Given the description of an element on the screen output the (x, y) to click on. 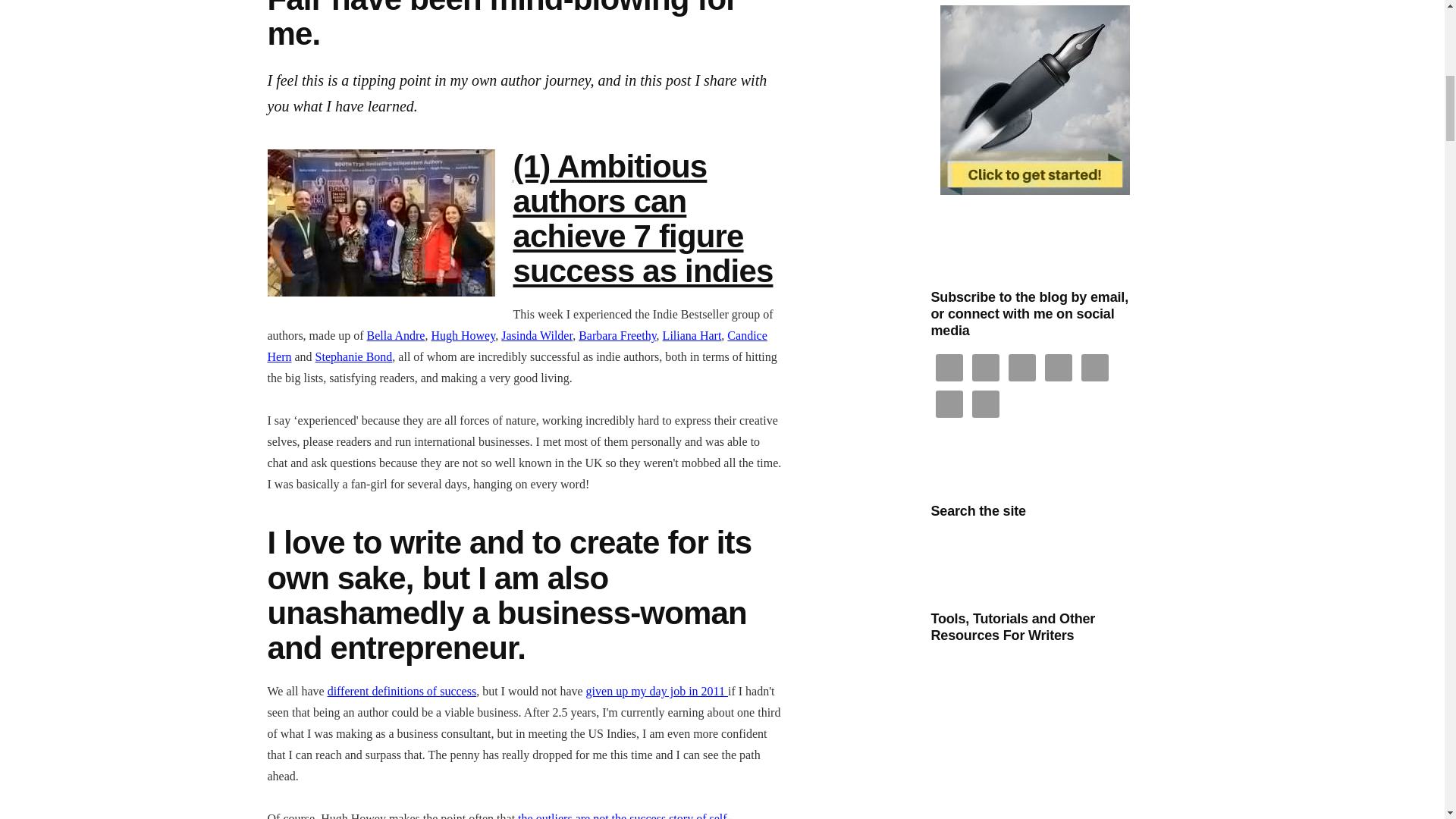
hugh howey (462, 335)
Liliana Hart (692, 335)
Barbara Freethy (617, 335)
Liliana Hart (692, 335)
Stephanie Bond (354, 356)
Jasinda Wilder (536, 335)
different definitions of success (402, 690)
Jasinda Wilder (536, 335)
rocking self pub hugh howey (498, 815)
Candice Hern (516, 346)
